Given the description of an element on the screen output the (x, y) to click on. 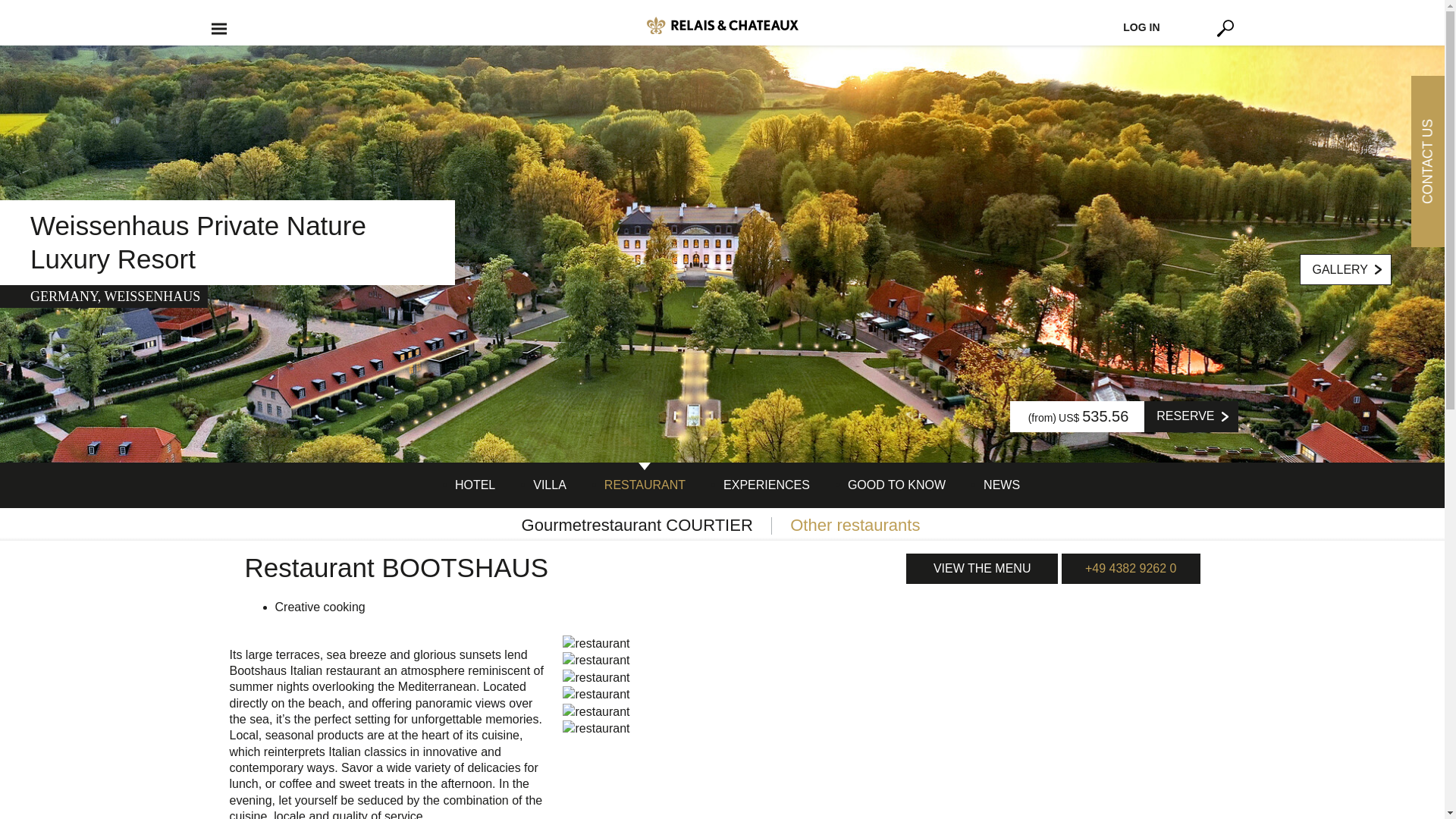
LOG IN (1140, 26)
